Given the description of an element on the screen output the (x, y) to click on. 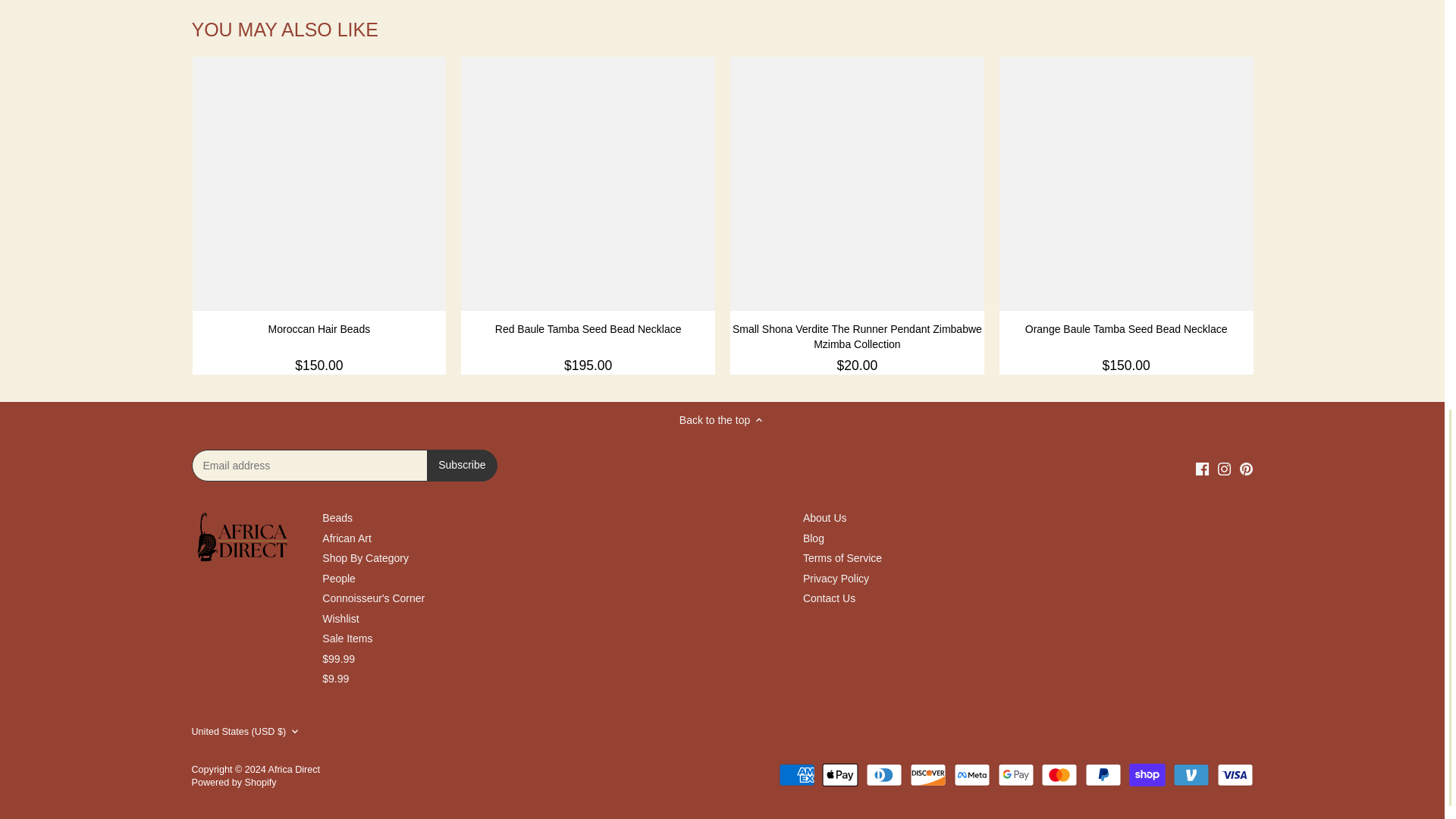
Facebook (1201, 468)
Pinterest (1246, 468)
Apple Pay (840, 774)
Instagram (1223, 468)
Discover (928, 774)
Meta Pay (971, 774)
Subscribe (461, 465)
Diners Club (884, 774)
American Express (796, 774)
